Given the description of an element on the screen output the (x, y) to click on. 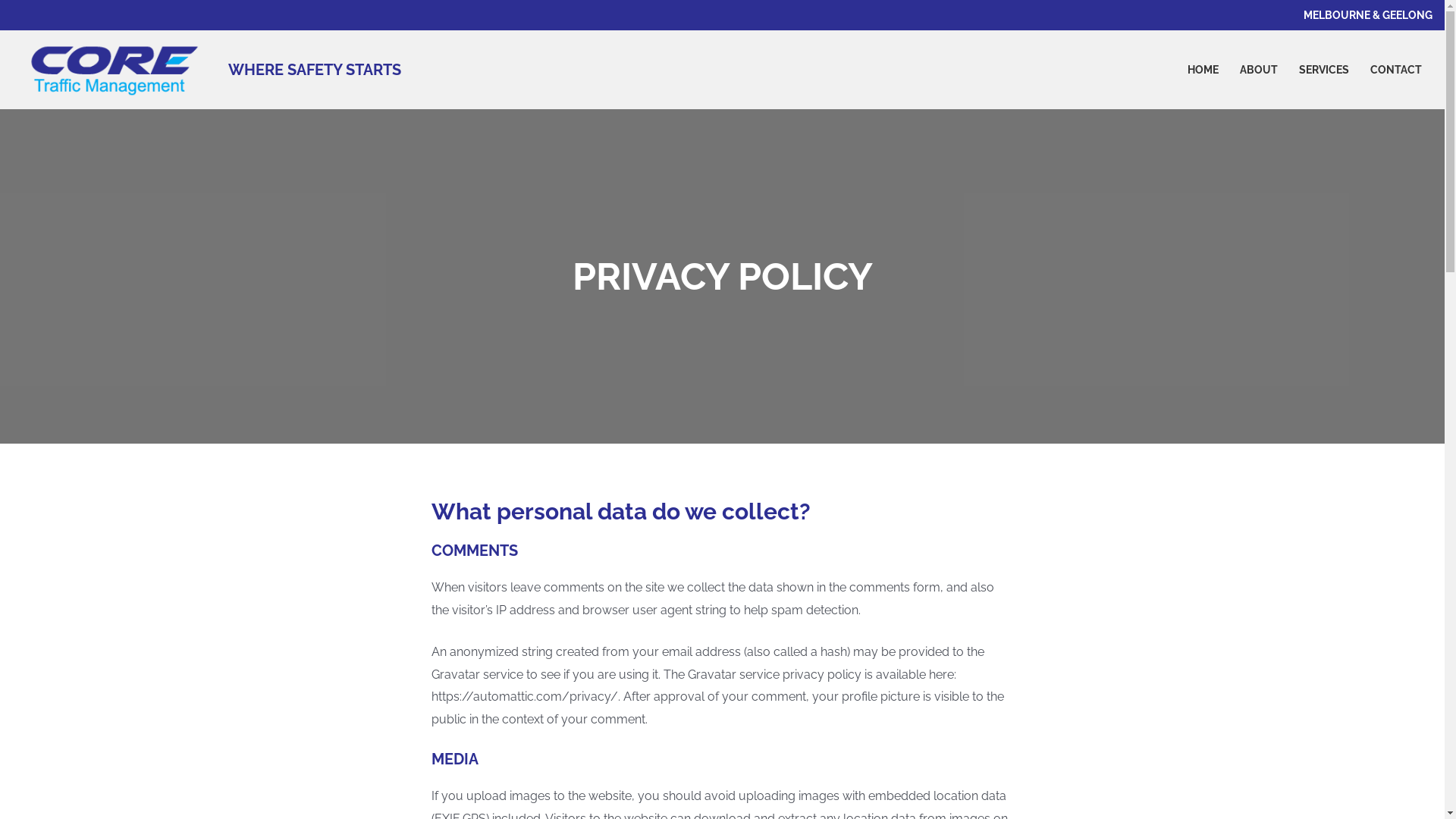
ABOUT Element type: text (1258, 69)
SERVICES Element type: text (1323, 69)
CONTACT Element type: text (1395, 69)
HOME Element type: text (1202, 69)
